Given the description of an element on the screen output the (x, y) to click on. 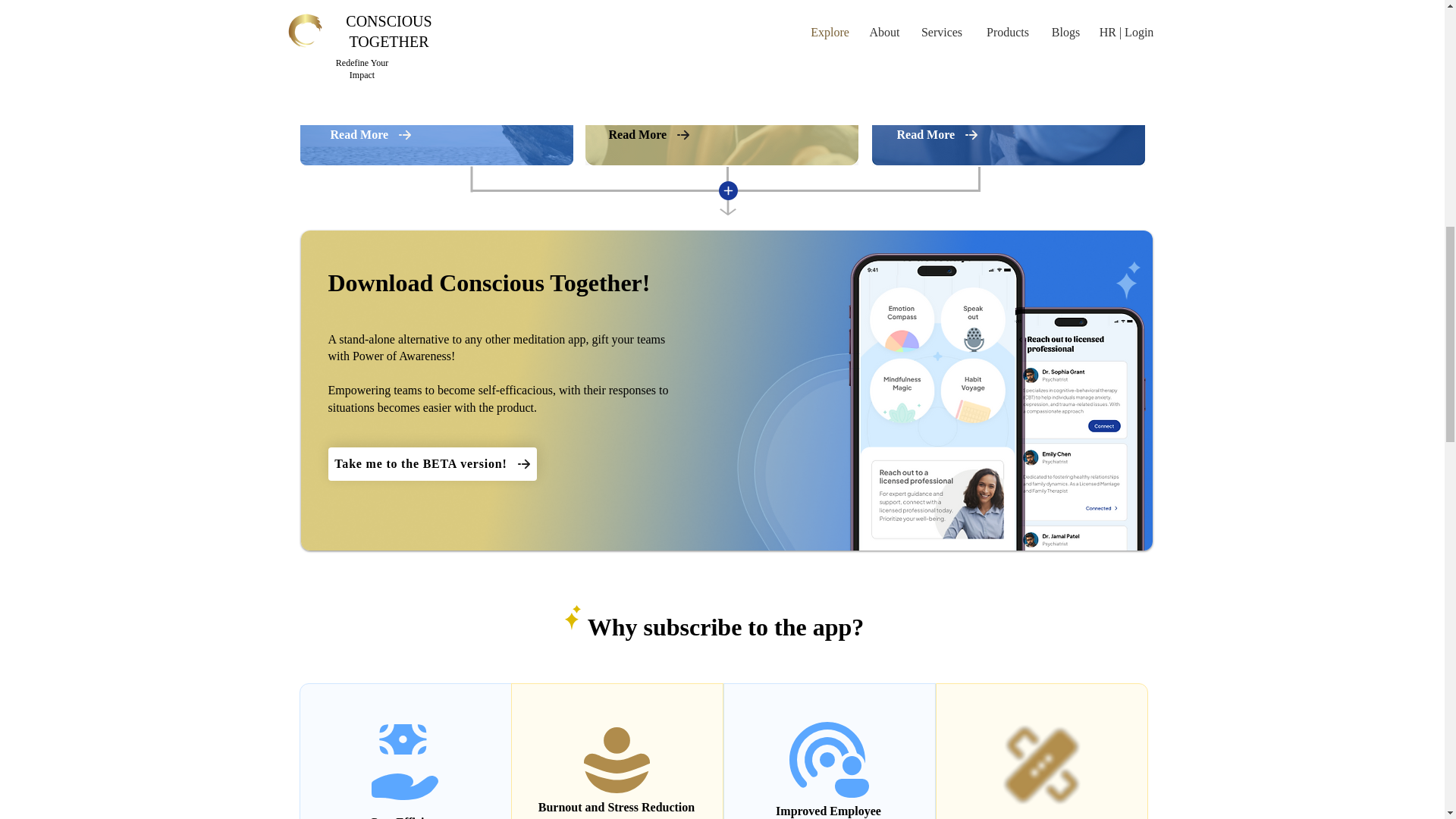
Read More (376, 134)
Read More (654, 134)
Take me to the BETA version! (431, 463)
Read More (942, 134)
